Given the description of an element on the screen output the (x, y) to click on. 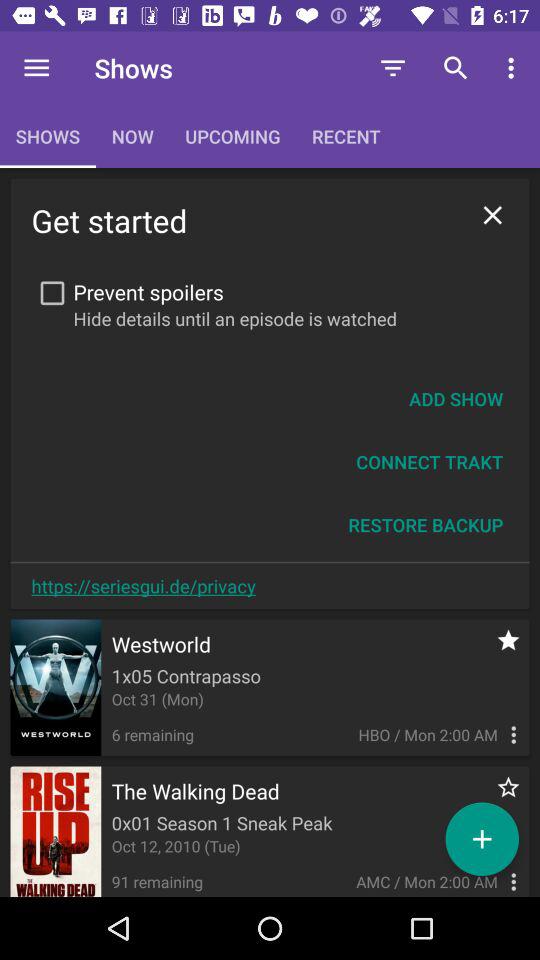
press the item to the right of upcoming (392, 67)
